Given the description of an element on the screen output the (x, y) to click on. 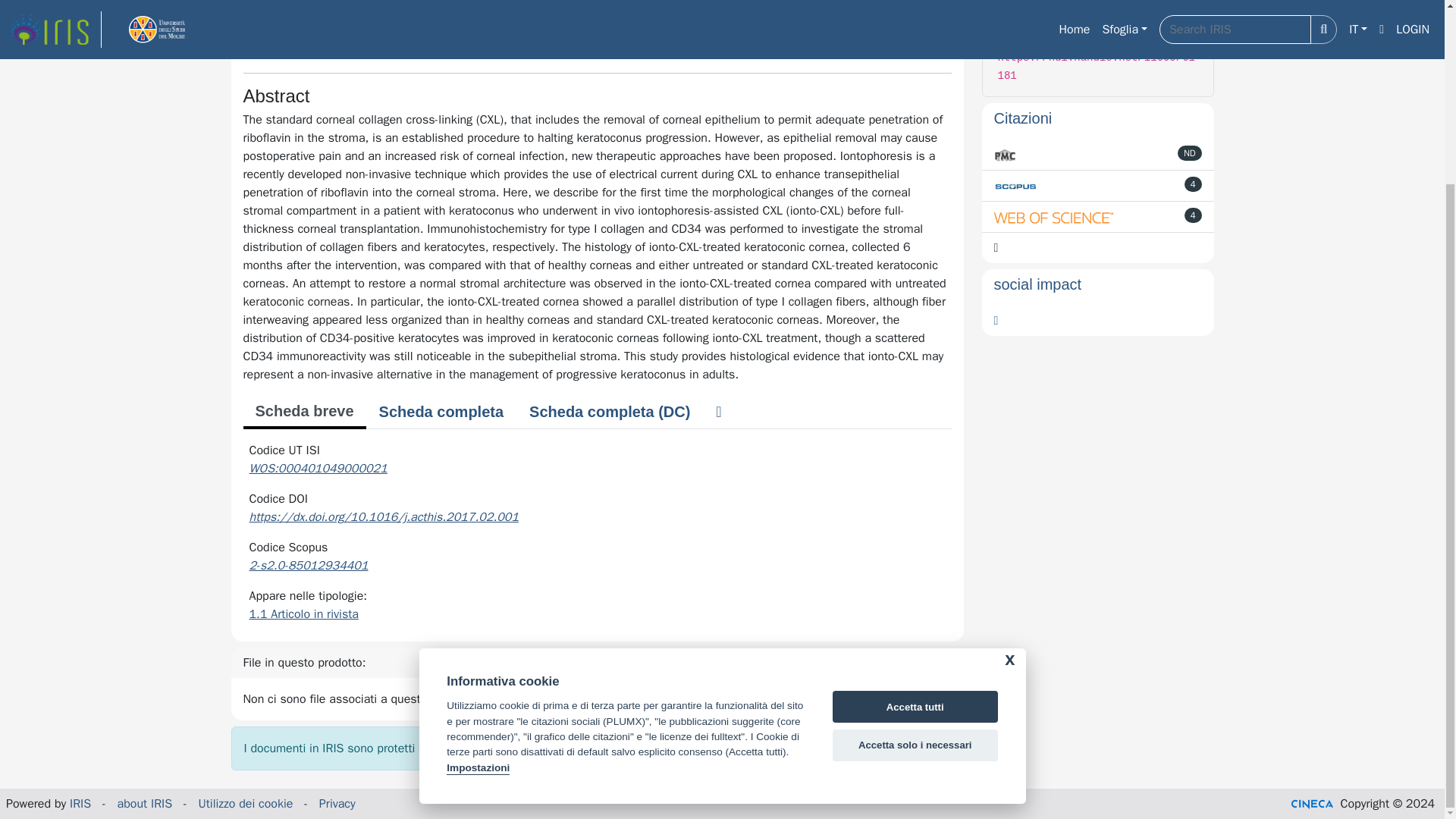
WOS:000401049000021 (317, 468)
Scheda breve (304, 412)
SGAMBATI, Eleonora (318, 20)
aggiornato in data 13-07-2024 18:17 (1193, 183)
Scheda completa (441, 411)
1.1 Articolo in rivista (303, 613)
2-s2.0-85012934401 (308, 565)
